Given the description of an element on the screen output the (x, y) to click on. 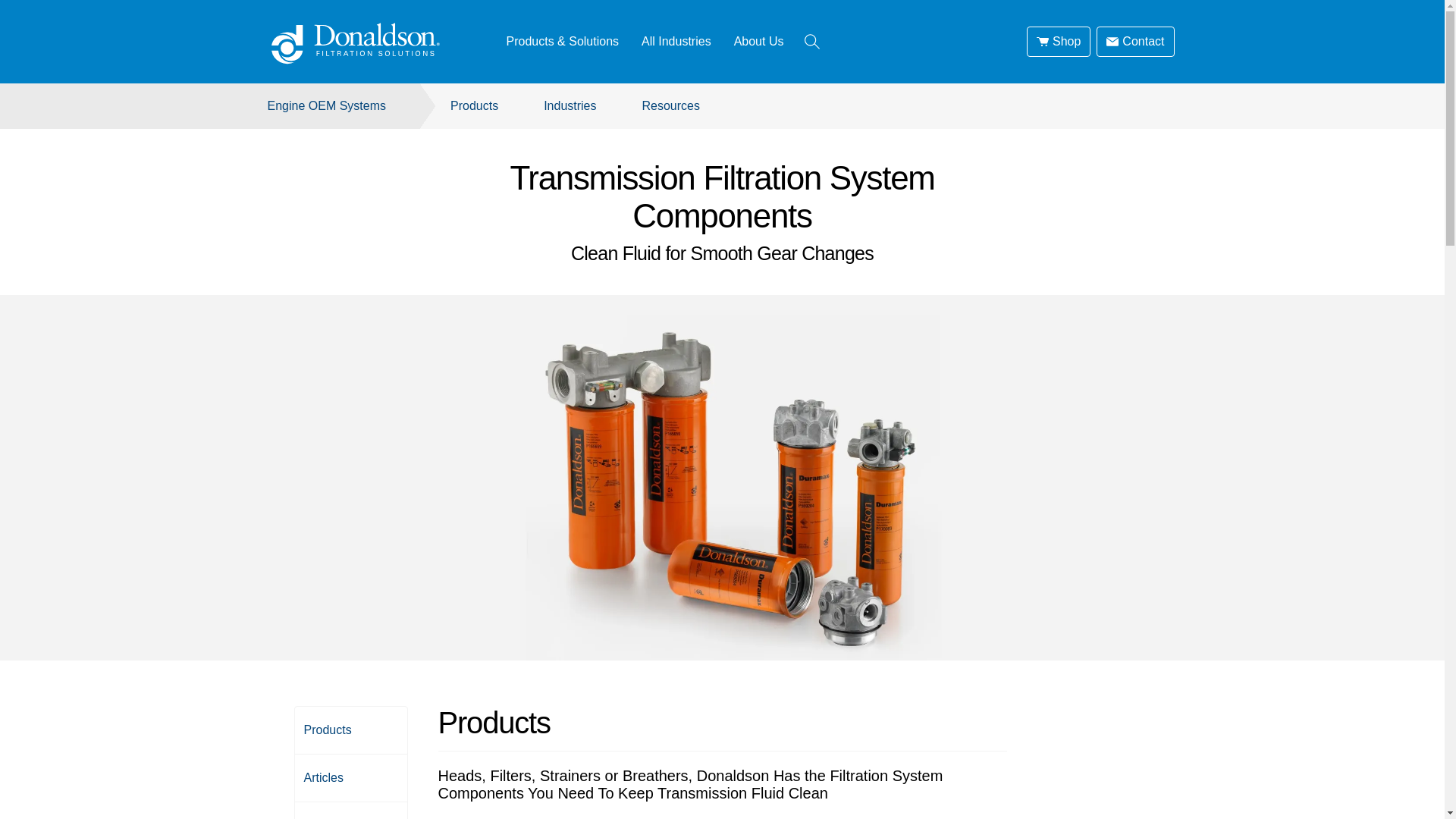
About Us (758, 41)
Donaldson (350, 762)
All Industries (350, 762)
